Given the description of an element on the screen output the (x, y) to click on. 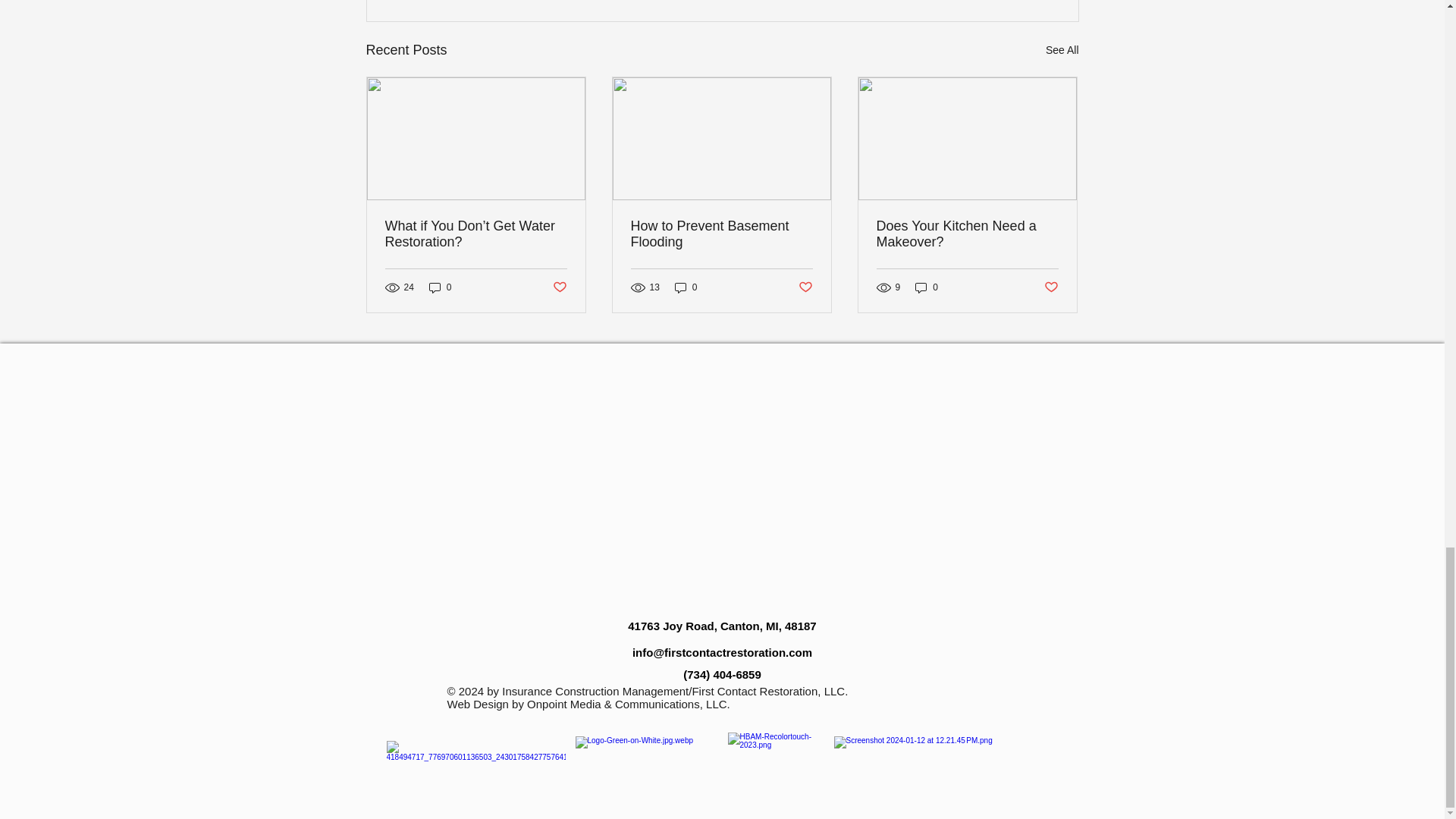
Post not marked as liked (1050, 286)
How to Prevent Basement Flooding (721, 234)
0 (440, 287)
Post not marked as liked (558, 286)
0 (926, 287)
Post not marked as liked (804, 286)
See All (1061, 50)
0 (685, 287)
Does Your Kitchen Need a Makeover? (967, 234)
